Given the description of an element on the screen output the (x, y) to click on. 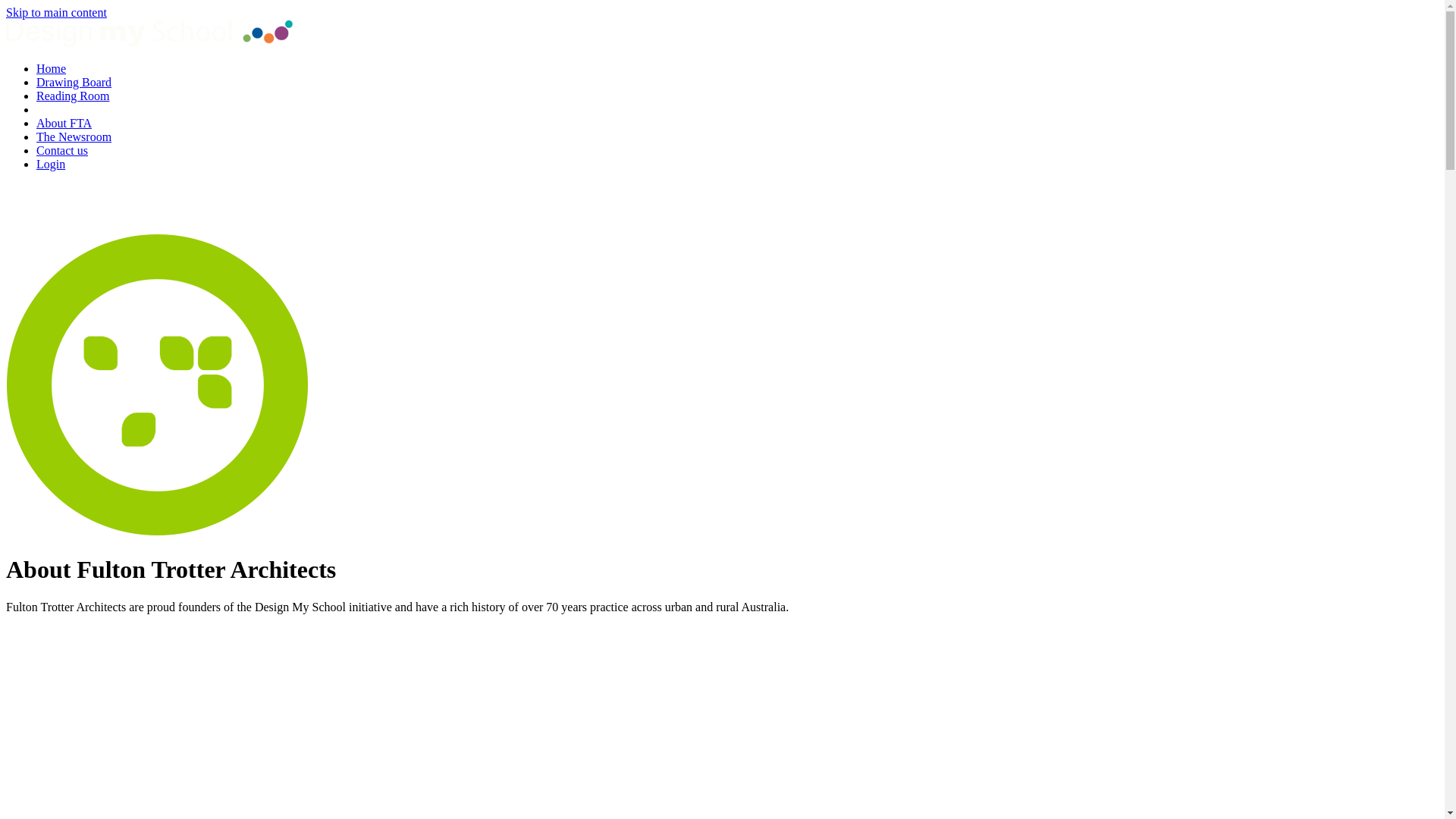
Login Element type: text (50, 163)
Contact us Element type: hover (19, 200)
About FTA Element type: text (63, 122)
Homepage Element type: hover (149, 42)
Home Element type: text (50, 68)
Skip to main content Element type: text (56, 12)
Login Element type: hover (18, 225)
Drawing Board Element type: text (73, 81)
The Newsroom Element type: text (73, 136)
Contact us Element type: text (61, 150)
Reading Room Element type: text (72, 95)
